Given the description of an element on the screen output the (x, y) to click on. 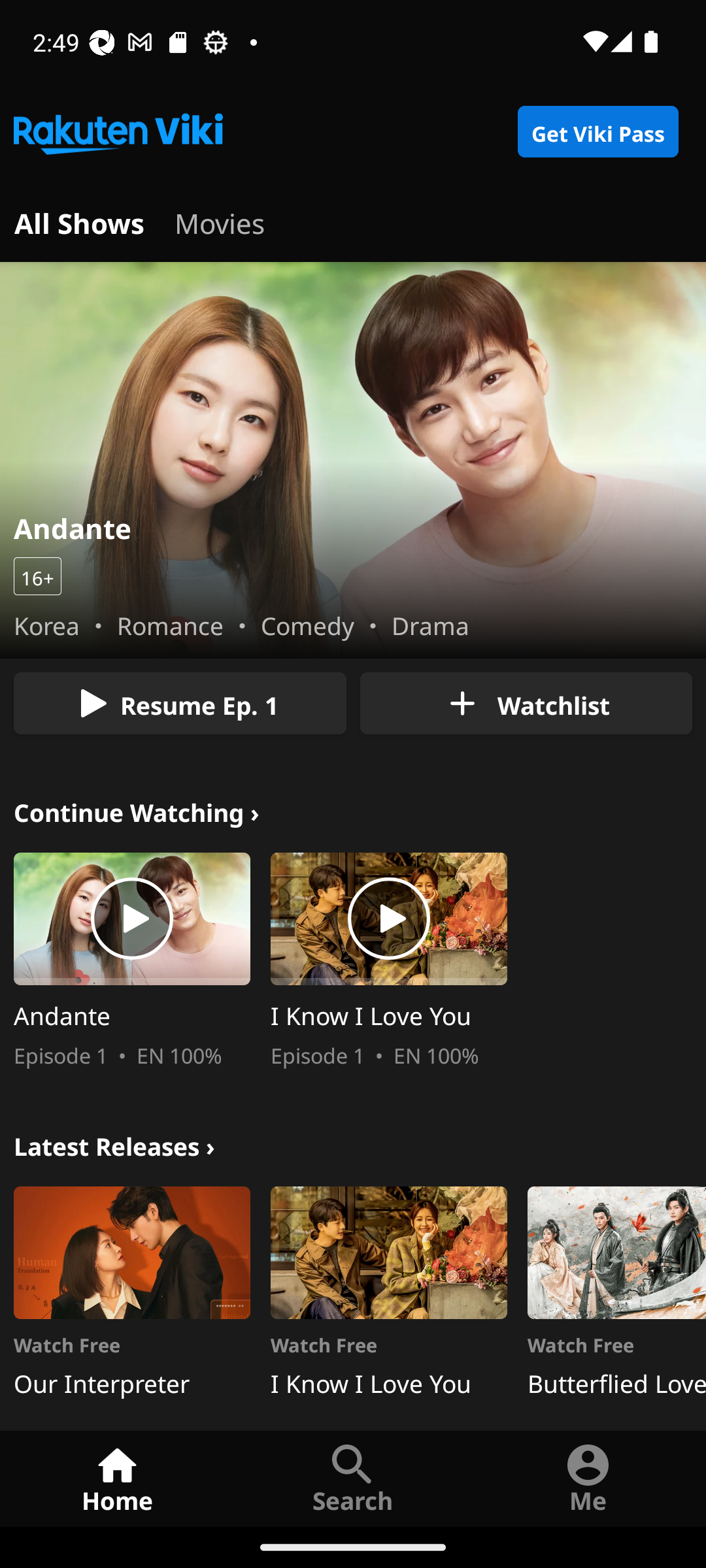
Get Viki Pass (597, 131)
home_tab_movies Movies (219, 220)
Resume Ep. 1 home_billboard_play_button (179, 702)
Watchlist home_billboard_add_to_watchlist_button (526, 702)
Continue Watching › continue_watching (136, 809)
Latest Releases › all_new (114, 1143)
Search (352, 1478)
Me (588, 1478)
